Given the description of an element on the screen output the (x, y) to click on. 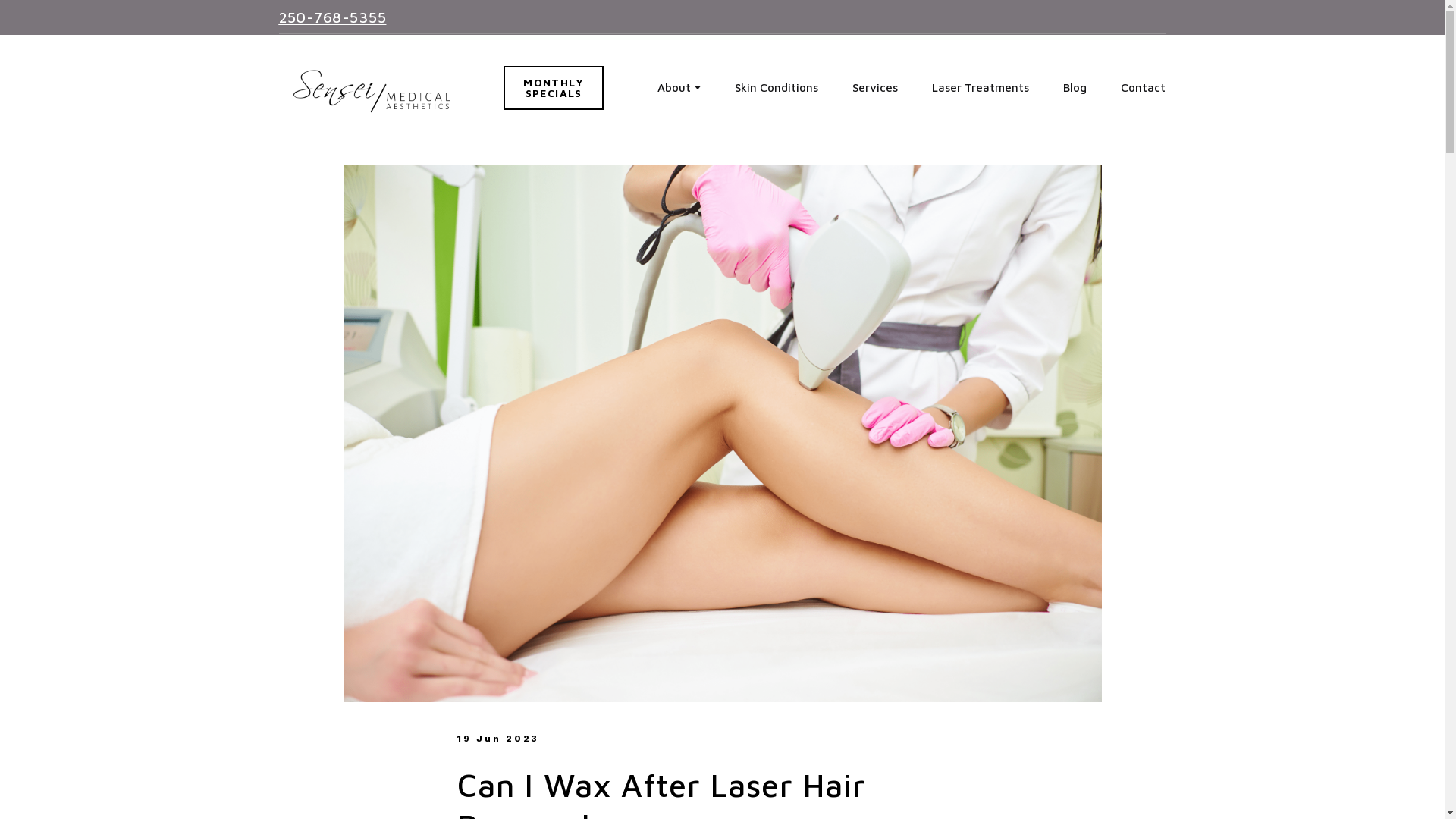
Blog (1074, 87)
About (674, 87)
Laser Treatments (553, 87)
250-768-5355 (980, 87)
Services (333, 16)
Skin Conditions (874, 87)
Contact (776, 87)
